Given the description of an element on the screen output the (x, y) to click on. 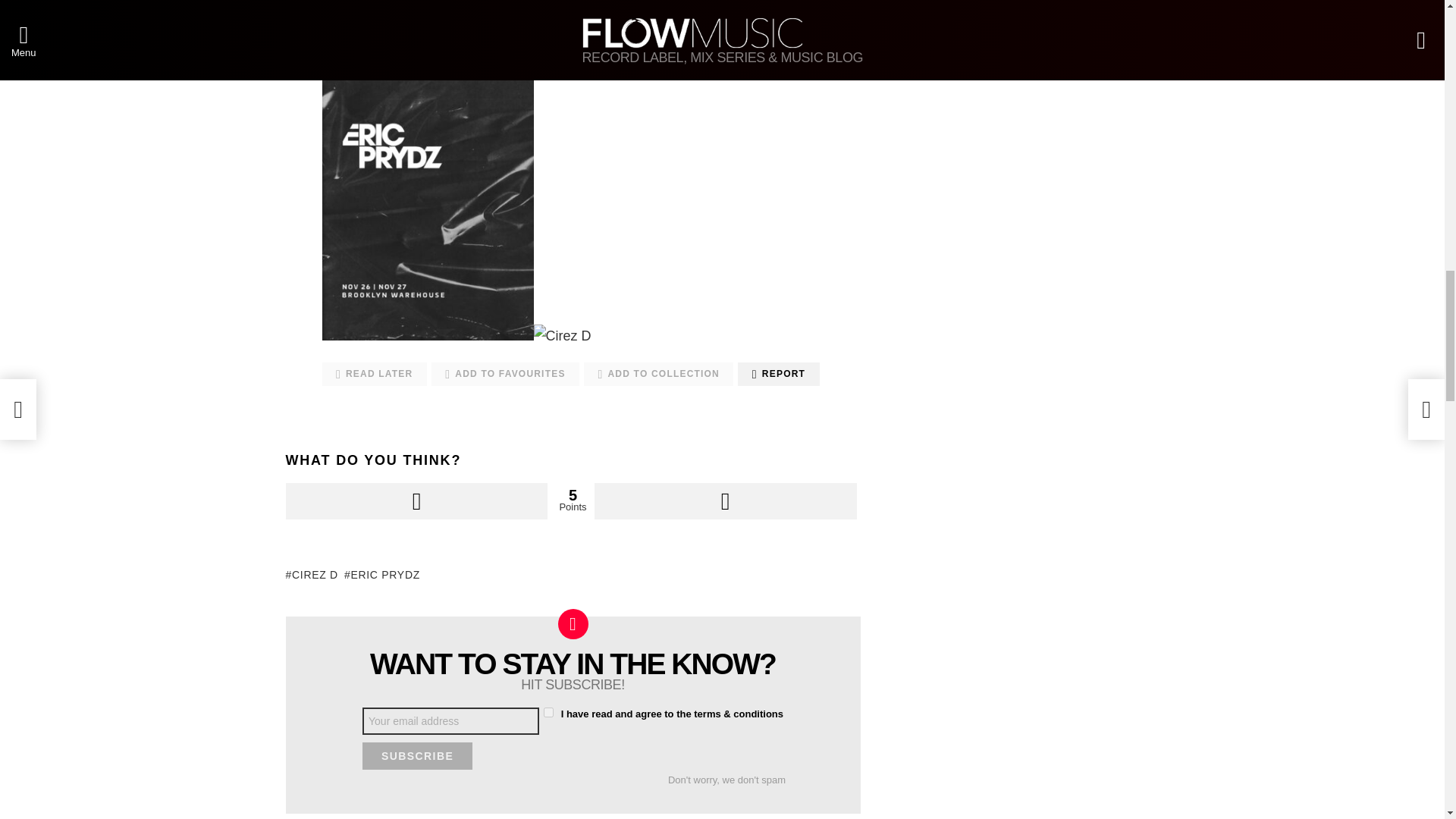
1 (548, 712)
Downvote (725, 501)
SUBSCRIBE (416, 755)
Upvote (416, 501)
